Given the description of an element on the screen output the (x, y) to click on. 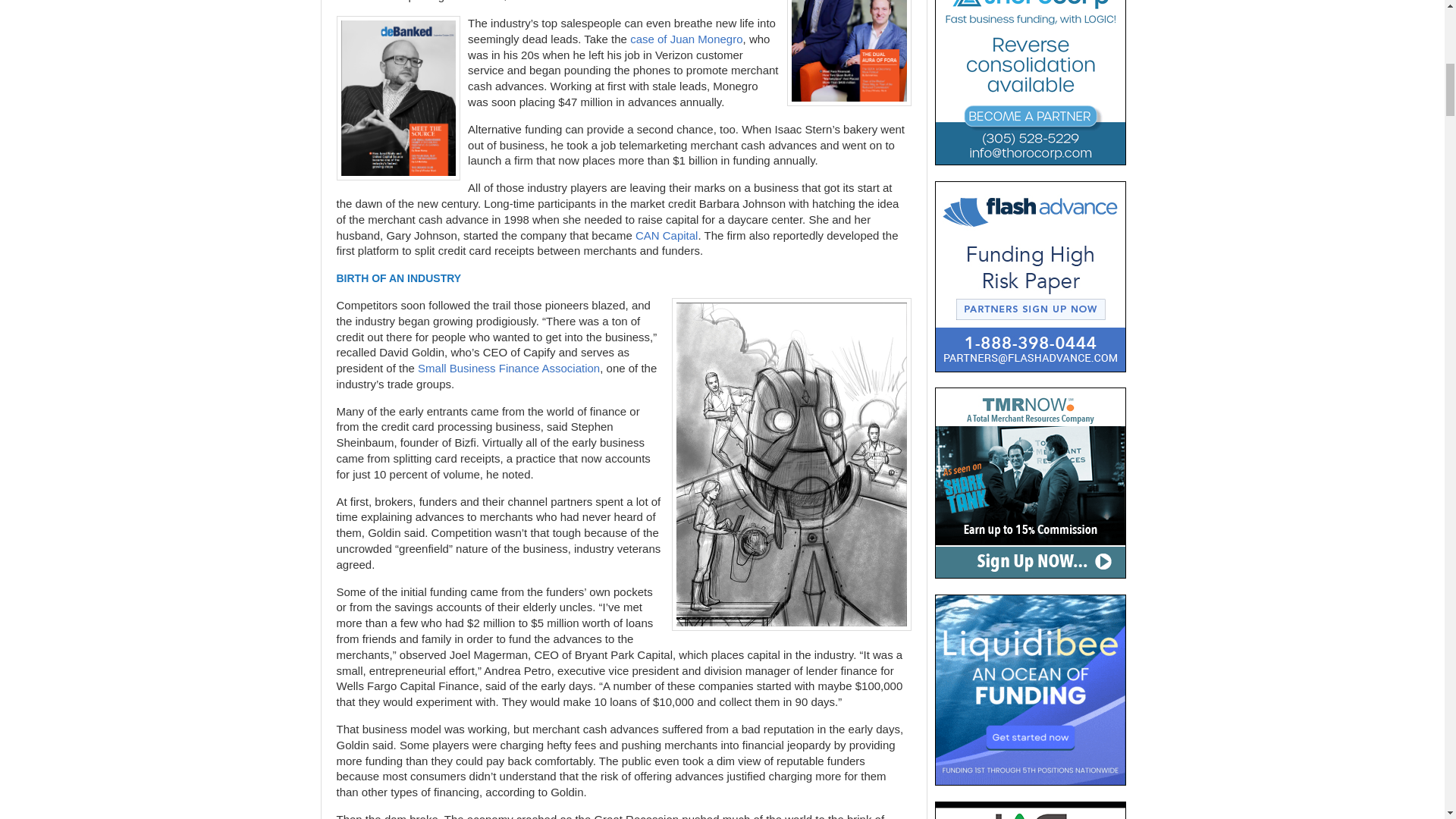
IAC - In Advance Capital (1029, 810)
Flash Advance (1029, 276)
CAN Capital (666, 235)
Total Merchant Resources (1029, 482)
case of Juan Monegro (686, 38)
Thorocorp (1029, 82)
Liquidibee (1029, 689)
